Given the description of an element on the screen output the (x, y) to click on. 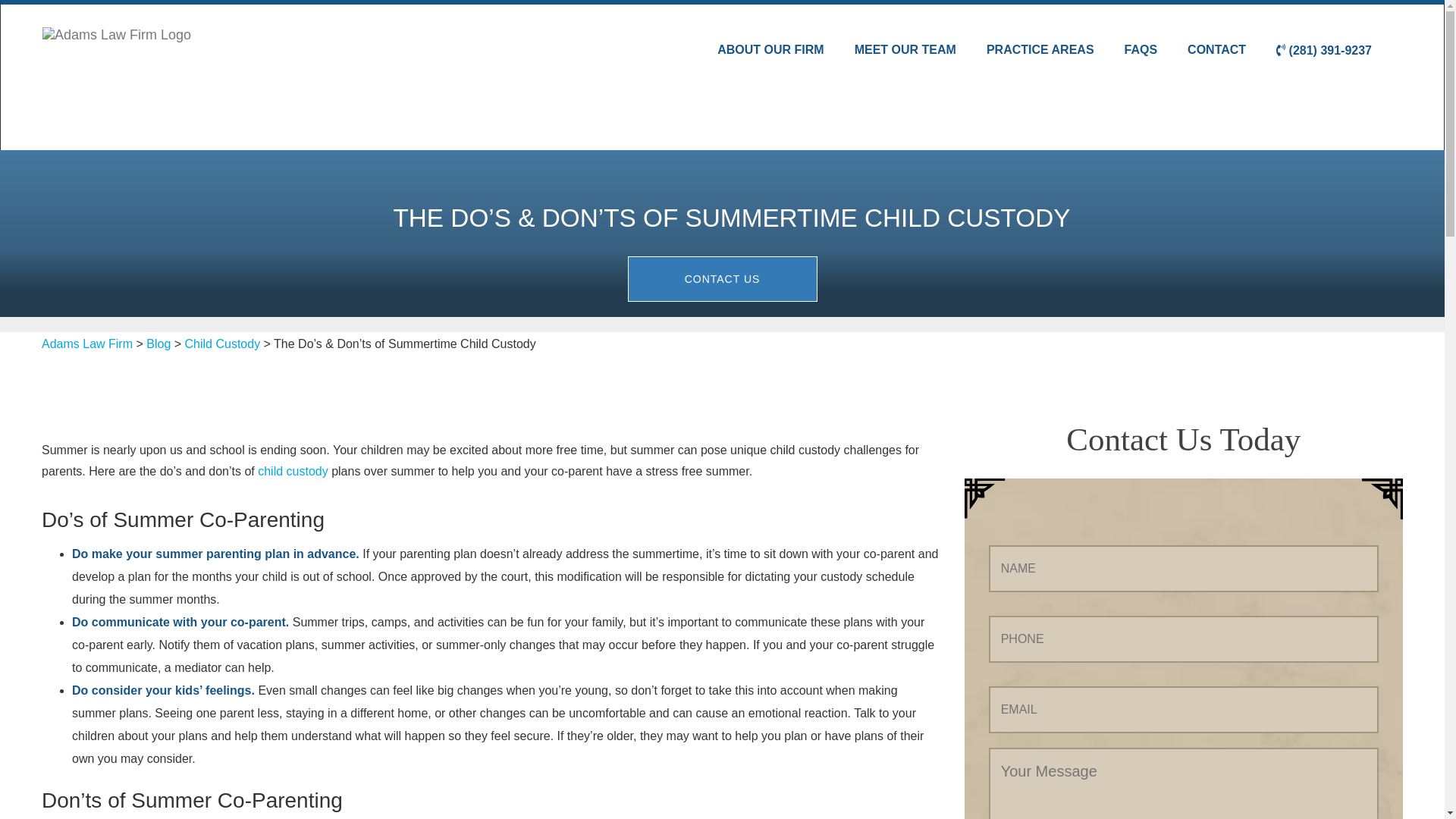
MEET OUR TEAM (905, 50)
FAQS (1141, 50)
PRACTICE AREAS (1040, 50)
Adams Law Firm (87, 343)
Go to the Child Custody category archives. (222, 343)
Go to Adams Law Firm. (87, 343)
Go to Blog. (158, 343)
ABOUT OUR FIRM (770, 50)
Child Custody (222, 343)
child custody (293, 471)
